Given the description of an element on the screen output the (x, y) to click on. 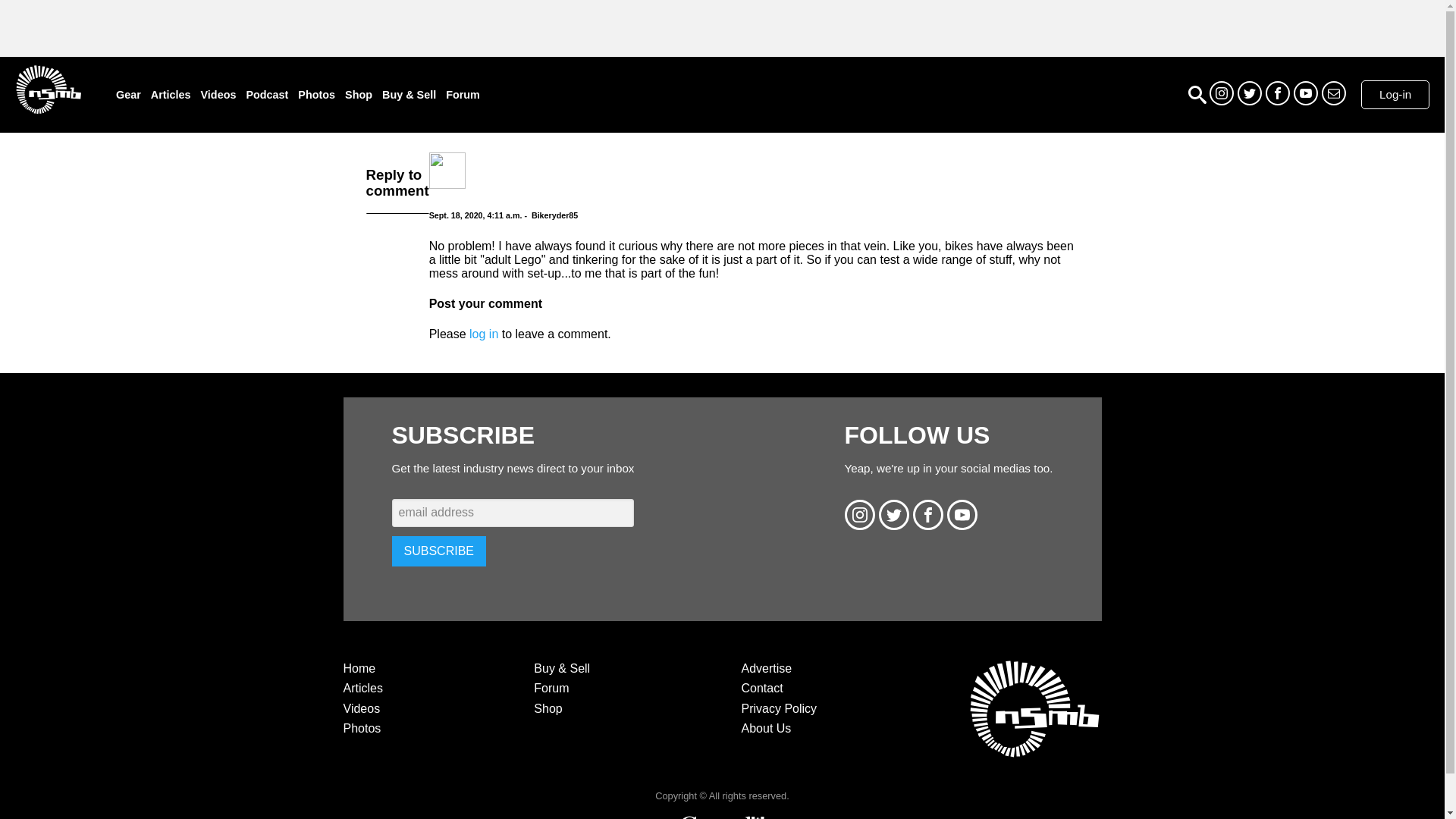
Facebook (1277, 93)
Twitter (1249, 93)
Log-in (1395, 94)
Instagram (1221, 93)
Search Toggle (1197, 94)
Subscribe (1333, 93)
NSMB Home (47, 89)
Youtube (1305, 93)
Gear (128, 94)
Subscribe (437, 551)
